Given the description of an element on the screen output the (x, y) to click on. 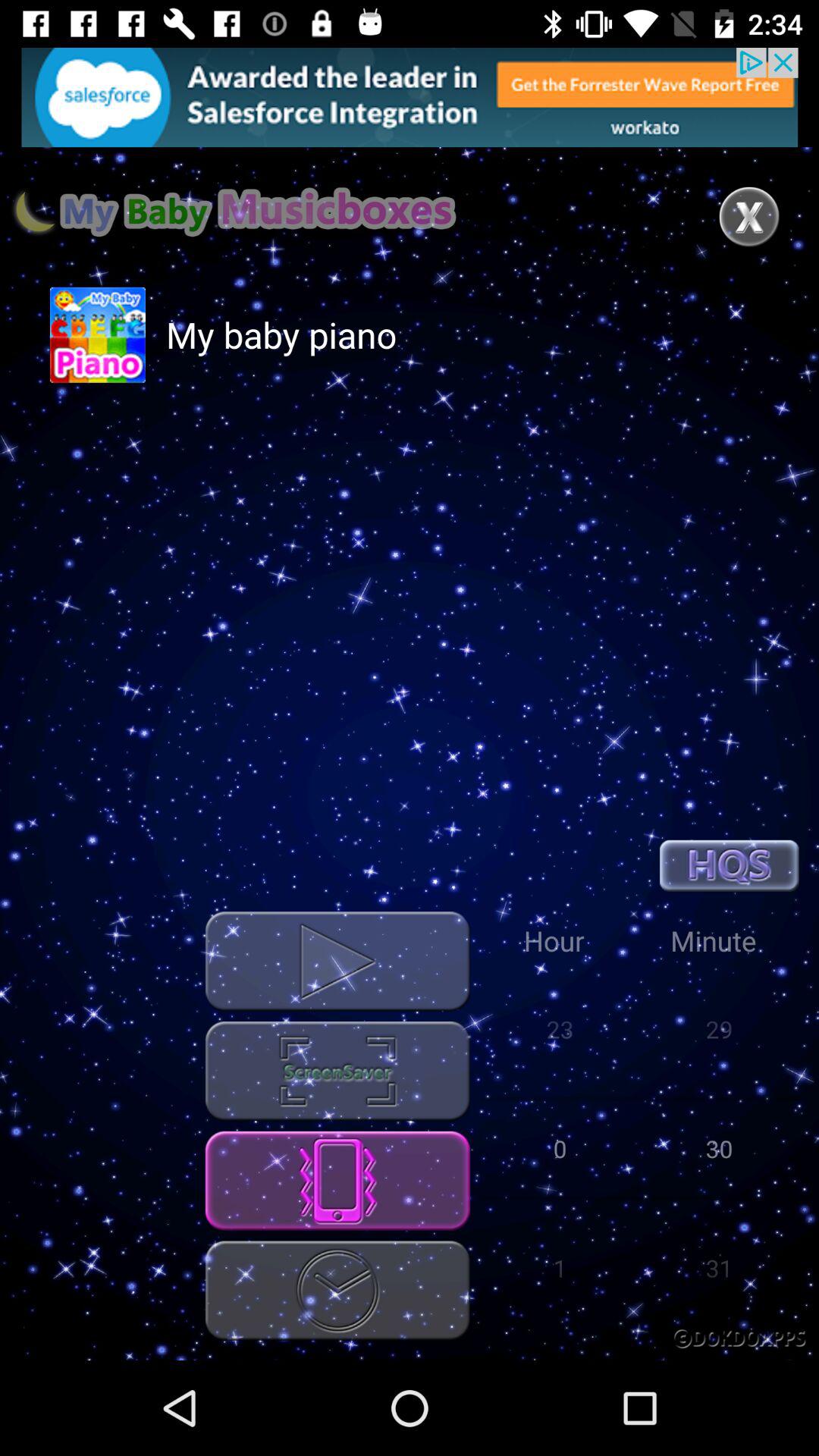
hqs button (729, 865)
